Given the description of an element on the screen output the (x, y) to click on. 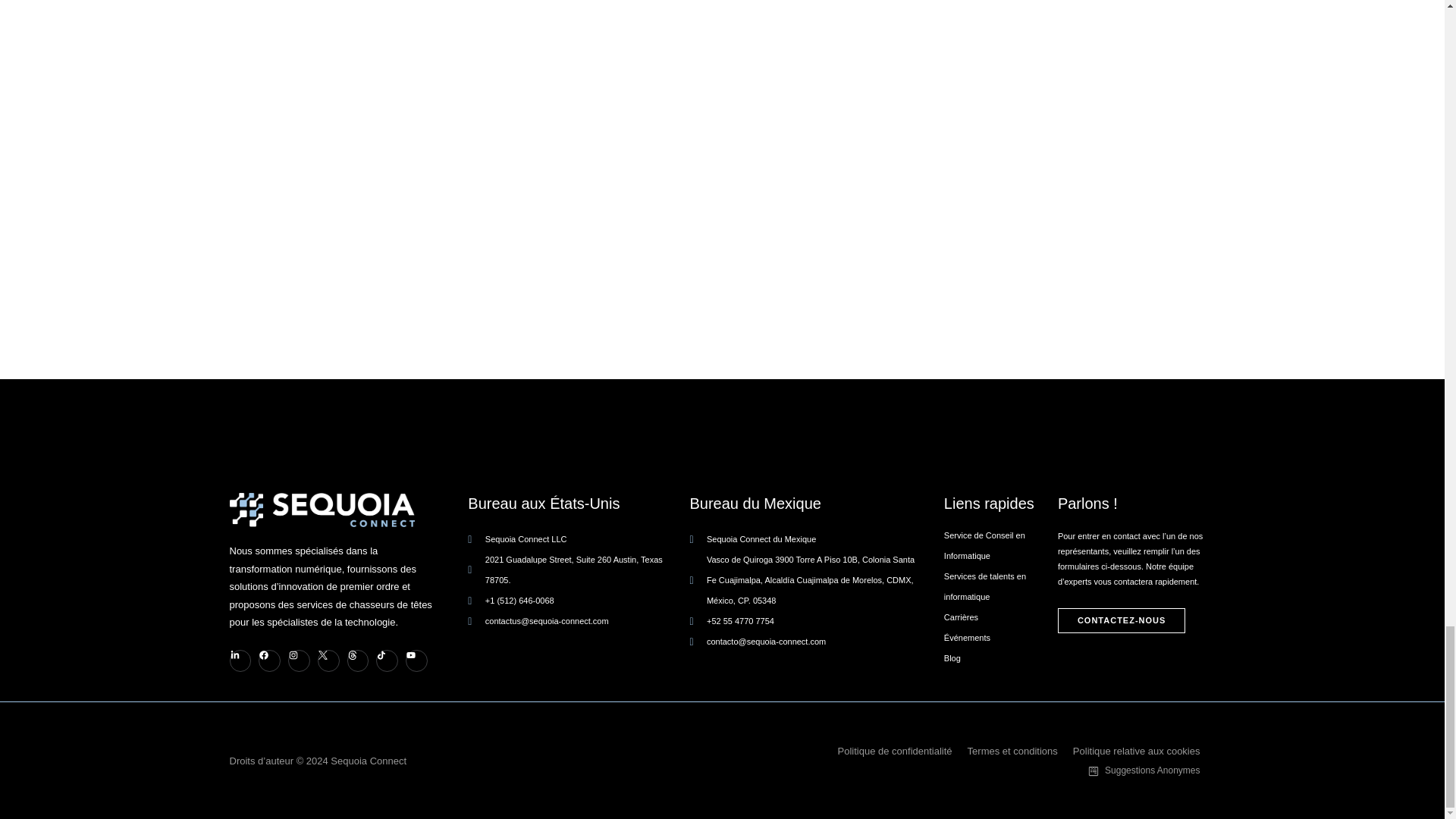
Politique relative aux cookies (1144, 750)
Bureau du Mexique (802, 503)
CONTACTEZ-NOUS (1121, 620)
Termes et conditions (1020, 750)
Liens rapides (1000, 503)
Suggestions Anonymes (1151, 770)
Parlons ! (1134, 503)
